Given the description of an element on the screen output the (x, y) to click on. 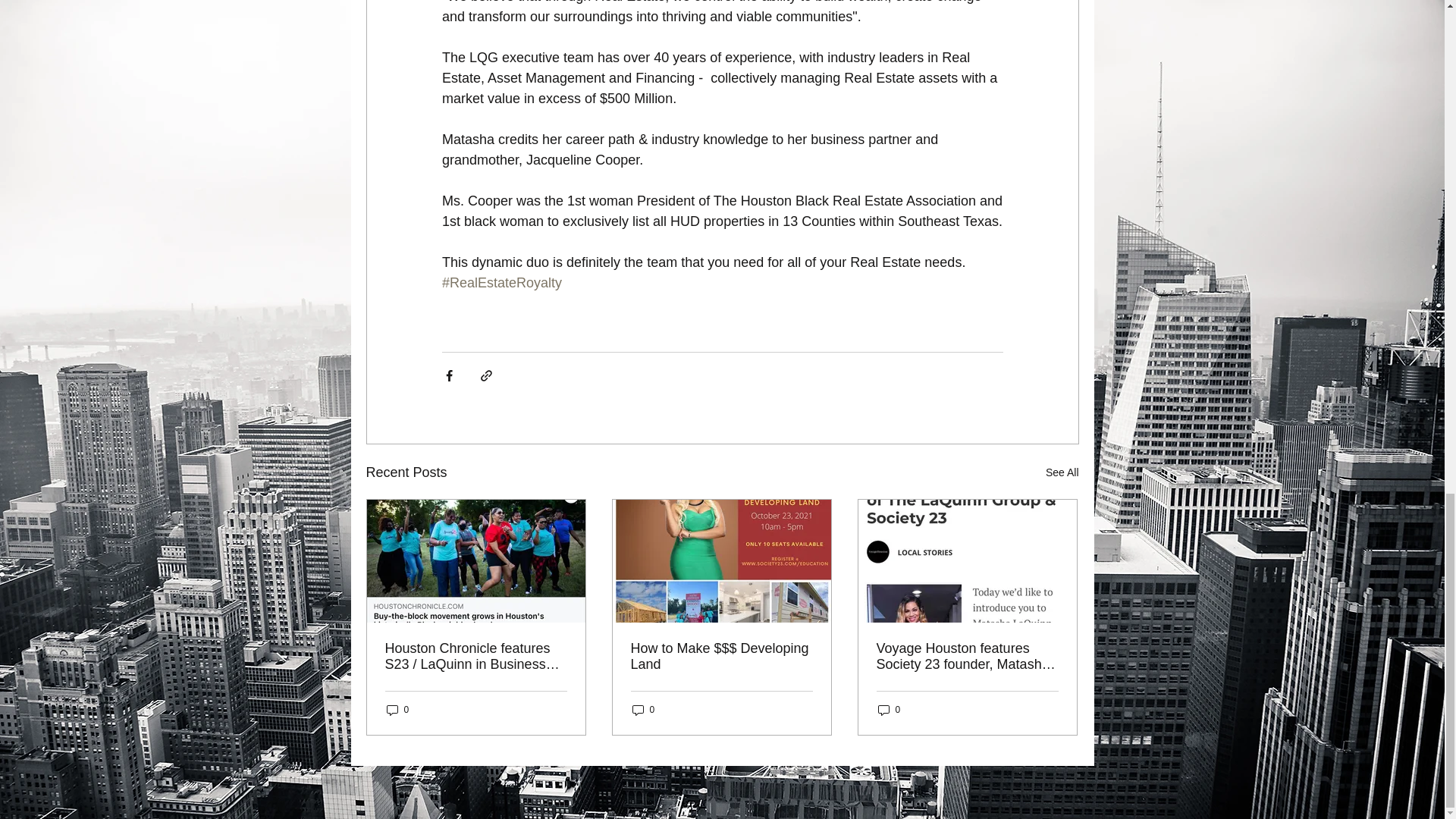
See All (1061, 472)
0 (889, 709)
Voyage Houston features Society 23 founder, Matasha LaQuinn (967, 656)
0 (397, 709)
0 (643, 709)
